Given the description of an element on the screen output the (x, y) to click on. 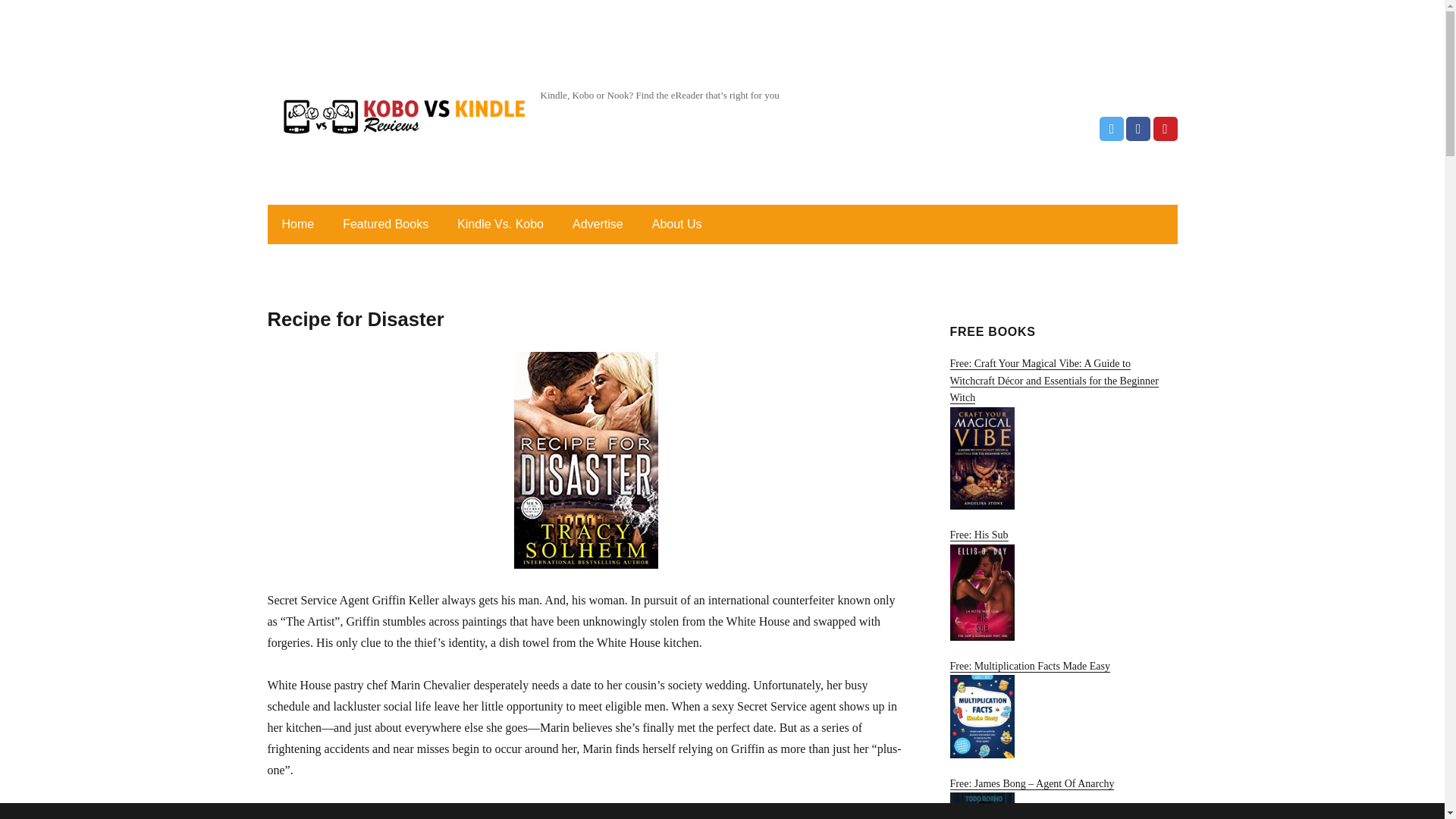
Pinterest (1164, 128)
Free: Multiplication Facts Made Easy (1062, 709)
Twitter (1111, 128)
Kindle Vs. Kobo (500, 224)
Featured Books (385, 224)
Facebook (1137, 128)
Advertise (597, 224)
Free: His Sub (1062, 584)
About Us (677, 224)
Home (297, 224)
